Given the description of an element on the screen output the (x, y) to click on. 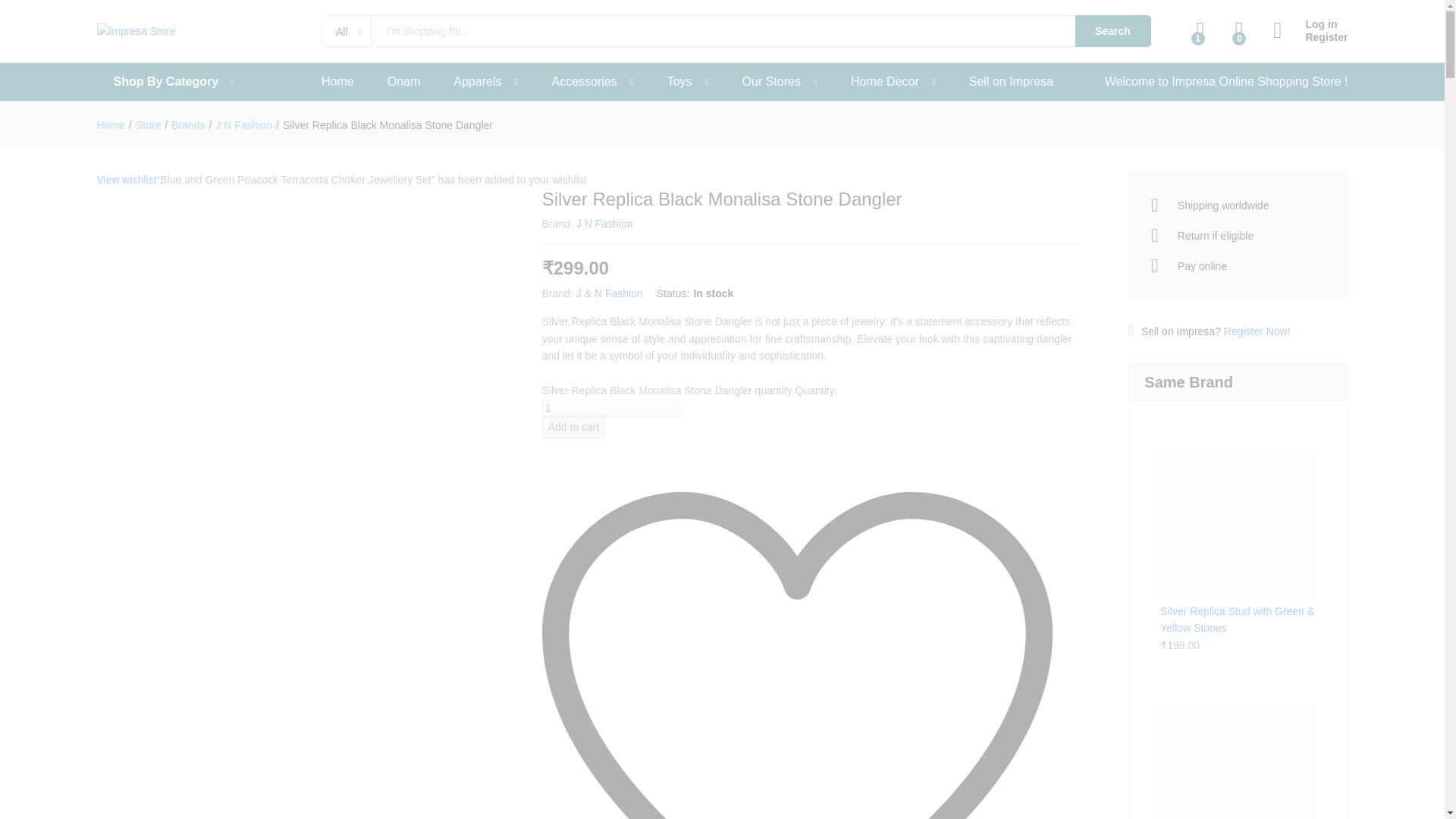
Qty (611, 407)
1 (611, 407)
